Given the description of an element on the screen output the (x, y) to click on. 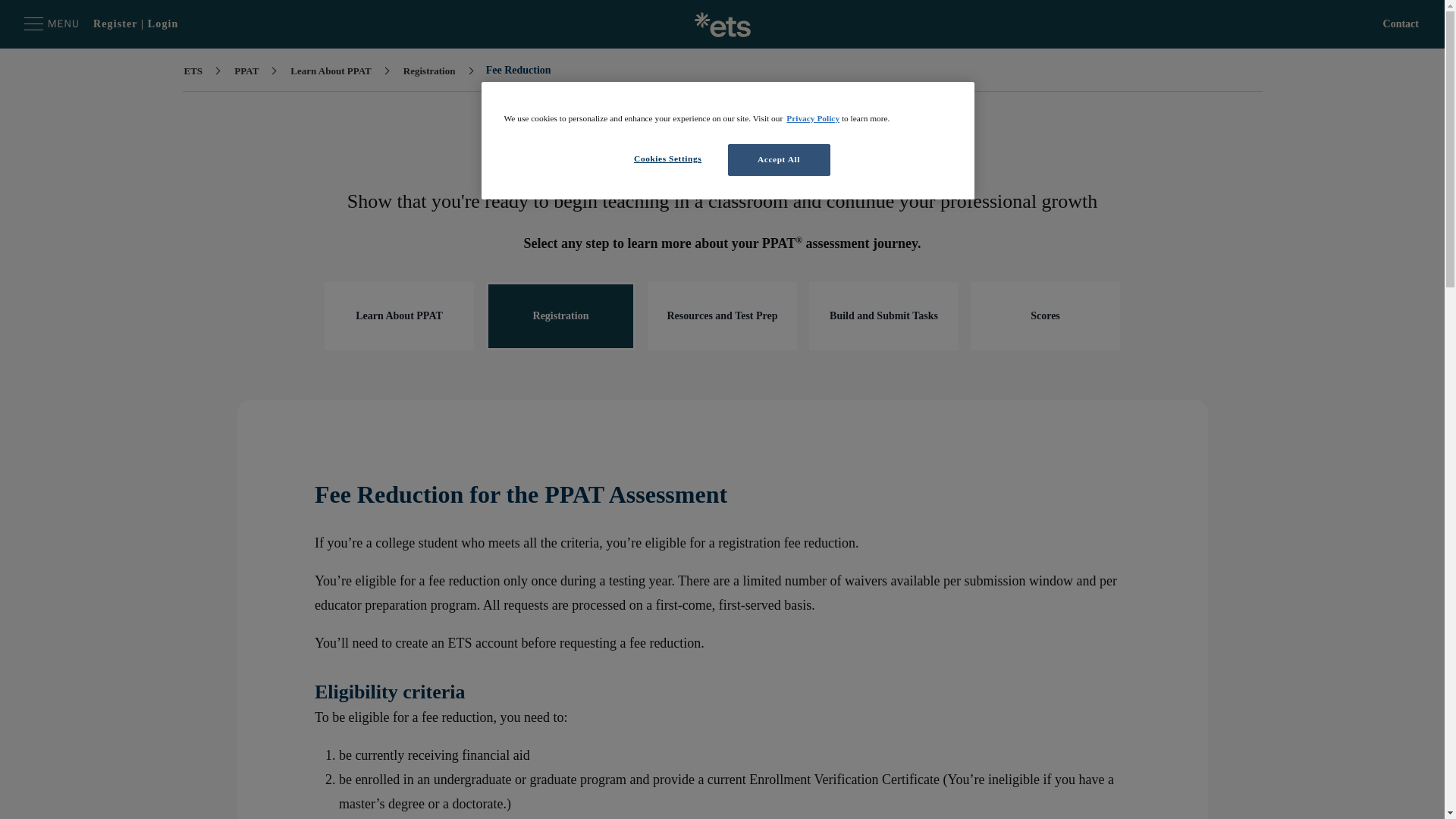
ETS (194, 70)
Contact (1401, 24)
SKIP TO MAIN CONTENT (30, 23)
Learn About PPAT (331, 70)
MENU (52, 24)
PPAT (247, 70)
